Given the description of an element on the screen output the (x, y) to click on. 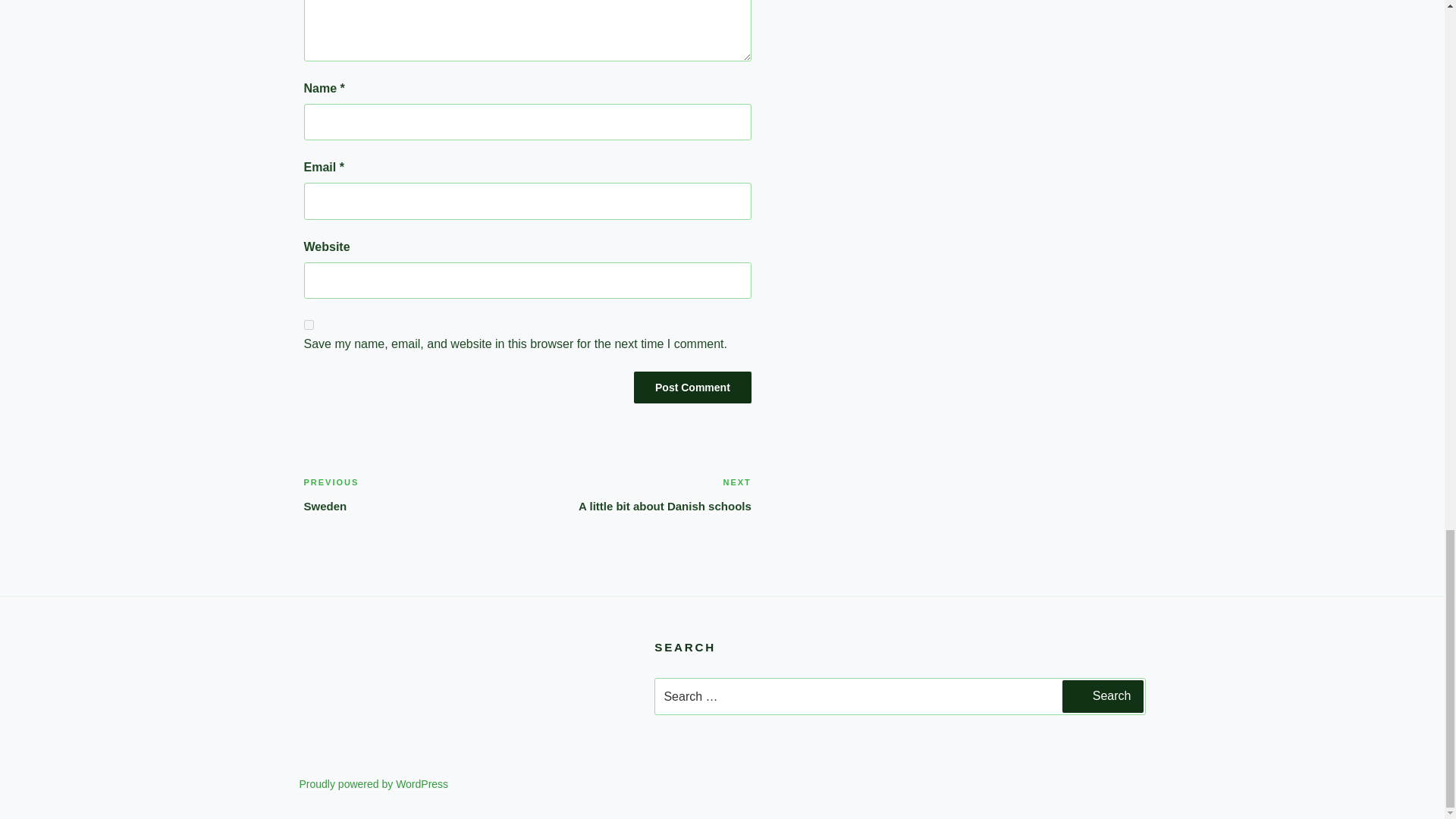
yes (307, 325)
Post Comment (692, 387)
Post Comment (414, 493)
